Given the description of an element on the screen output the (x, y) to click on. 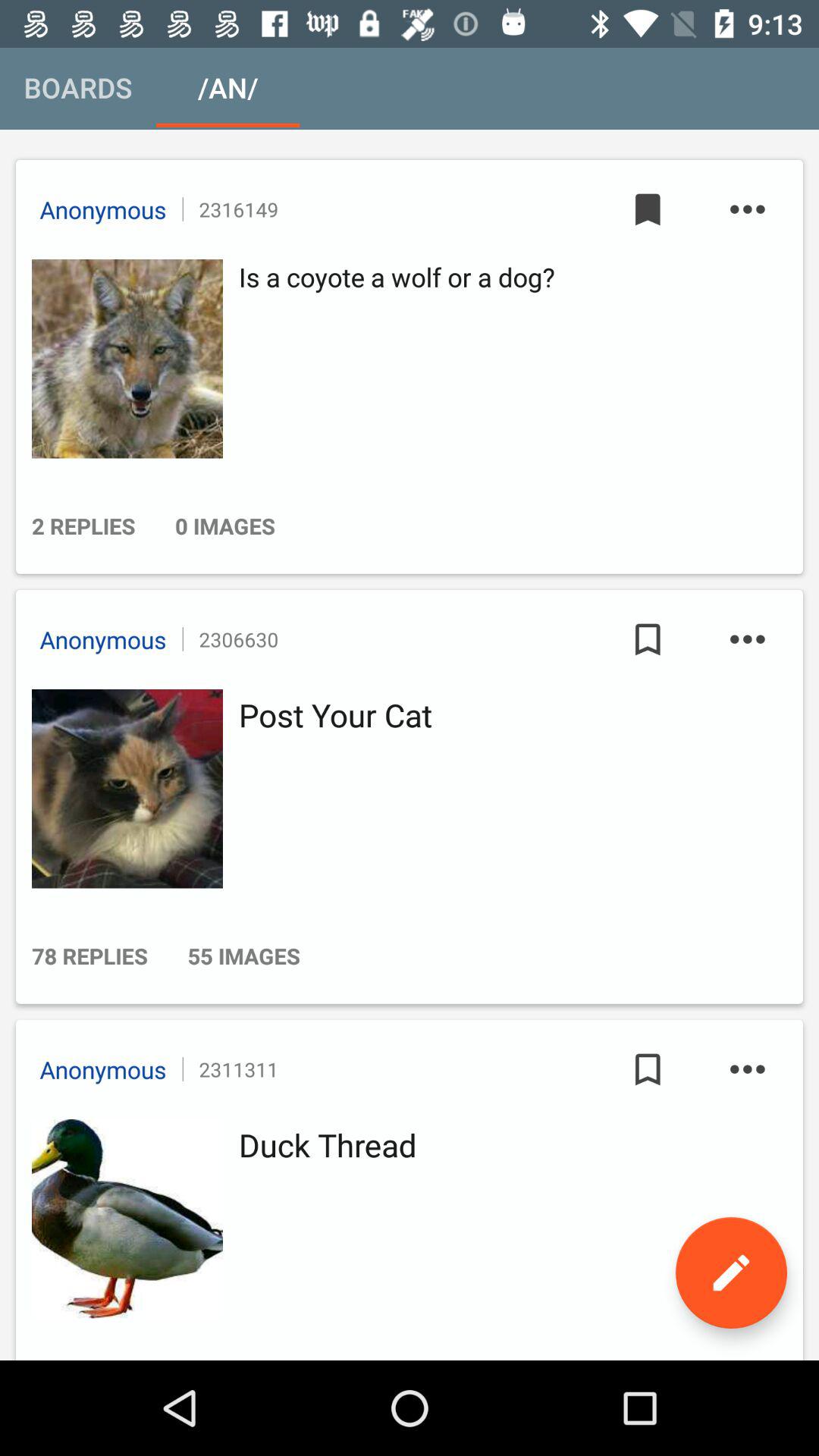
select item to the right of the is a coyote icon (647, 209)
